Given the description of an element on the screen output the (x, y) to click on. 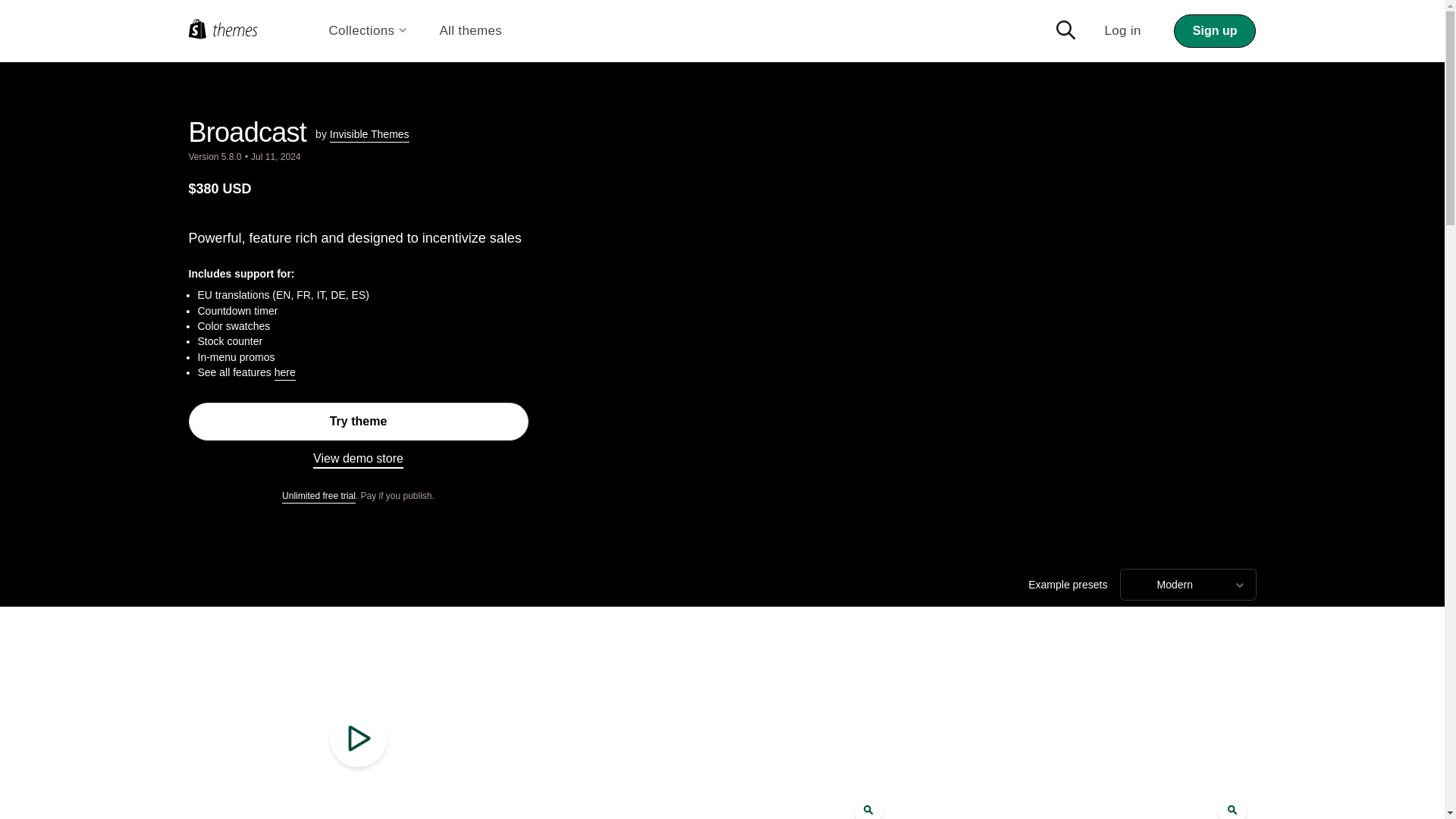
Log in (1121, 30)
Shopify (252, 30)
Invisible Themes (369, 134)
Sign up (1214, 30)
Collections (368, 30)
All themes (470, 30)
Shopify (252, 30)
